Given the description of an element on the screen output the (x, y) to click on. 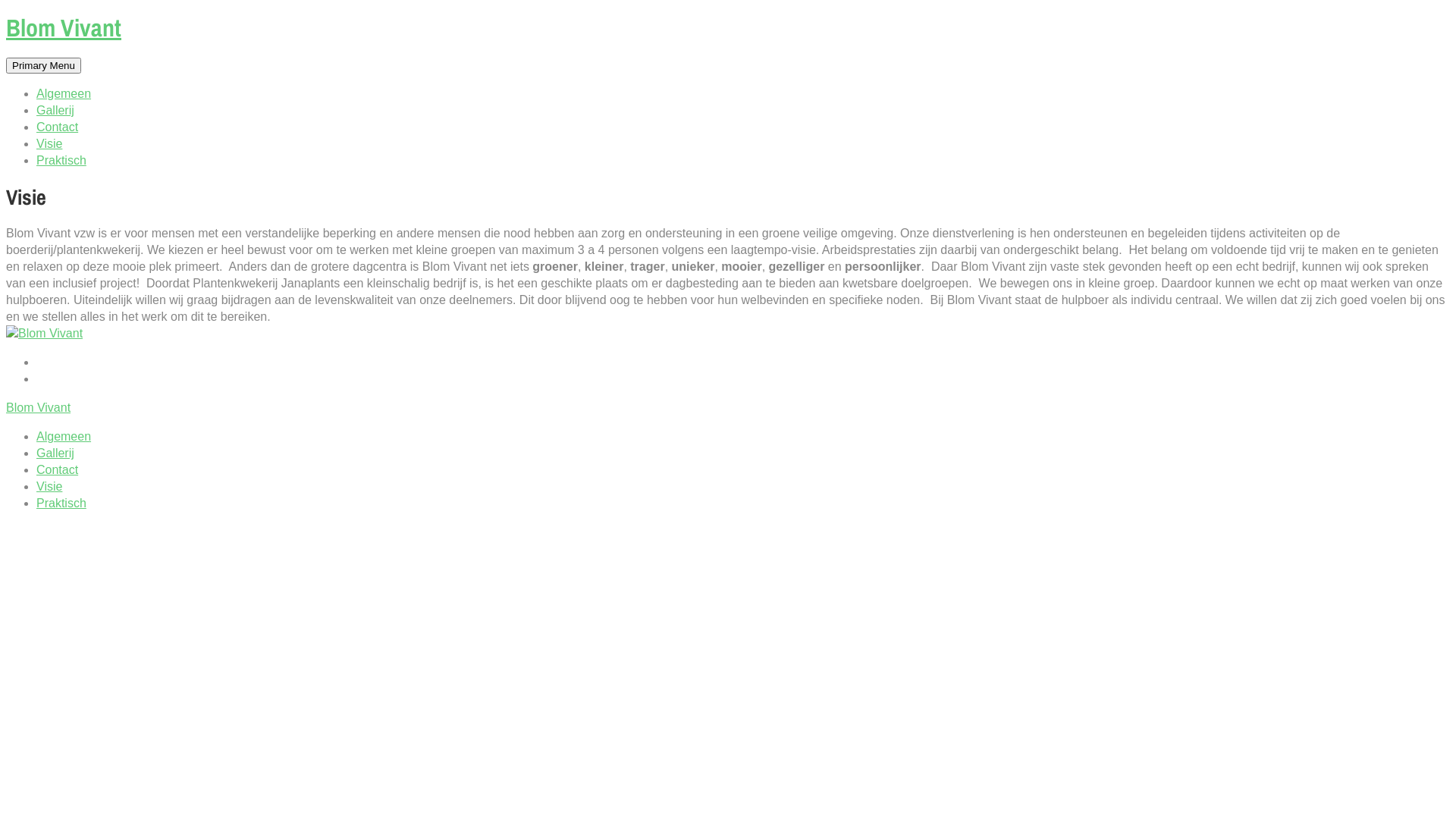
Contact Element type: text (57, 126)
Praktisch Element type: text (61, 159)
Algemeen Element type: text (63, 435)
Contact Element type: text (57, 469)
Gallerij Element type: text (55, 109)
Blom Vivant Element type: text (38, 407)
Blom Vivant Element type: text (63, 27)
Gallerij Element type: text (55, 452)
Skip to content Element type: text (5, 15)
Praktisch Element type: text (61, 502)
Visie Element type: text (49, 486)
Algemeen Element type: text (63, 93)
Primary Menu Element type: text (43, 65)
Visie Element type: text (49, 143)
